Given the description of an element on the screen output the (x, y) to click on. 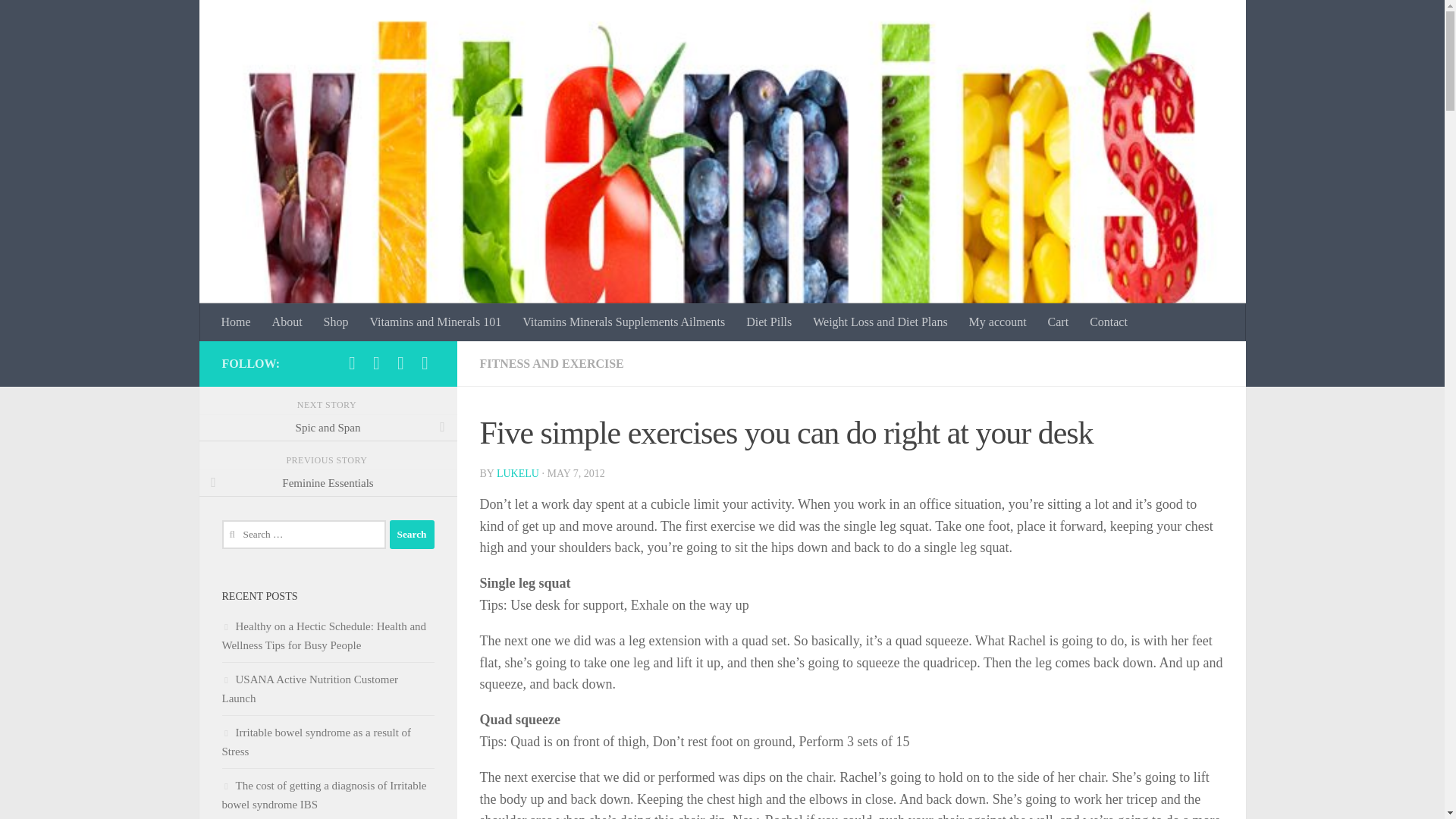
Contact (1108, 322)
Follow us on Facebook (351, 362)
Search (411, 534)
Follow us on Pinterest (423, 362)
My account (997, 322)
Vitamins Minerals Supplements Ailments (623, 322)
LUKELU (517, 473)
Feminine Essentials (327, 482)
Spic and Span (327, 427)
Search (411, 534)
